Given the description of an element on the screen output the (x, y) to click on. 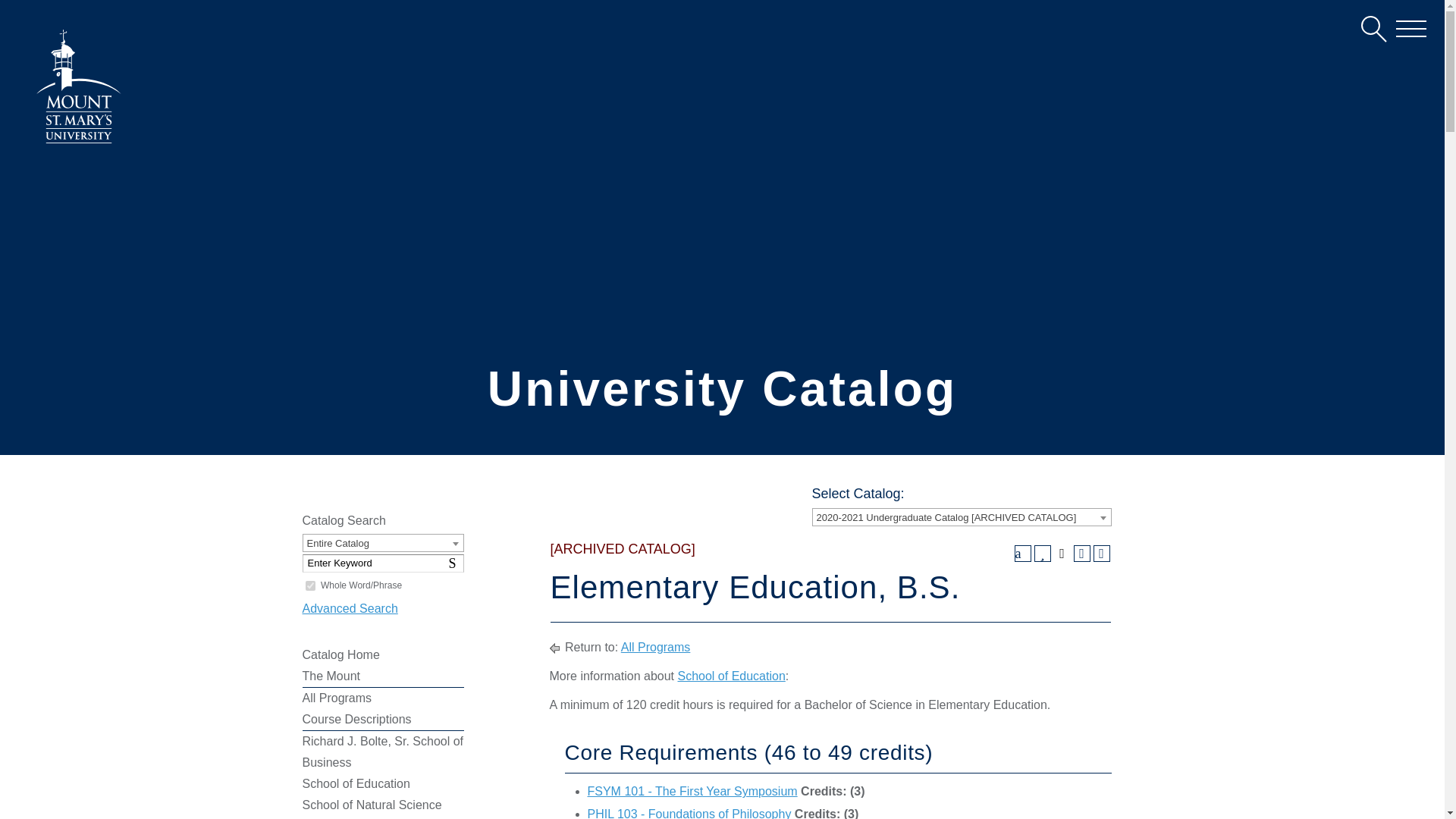
Search (455, 563)
Enter Keyword   (382, 562)
Exact Match (309, 585)
Search Keyword Field, required (382, 562)
Select a Catalog (960, 516)
Entire Catalog (382, 542)
Choose Search Location (382, 542)
1 (309, 585)
